Given the description of an element on the screen output the (x, y) to click on. 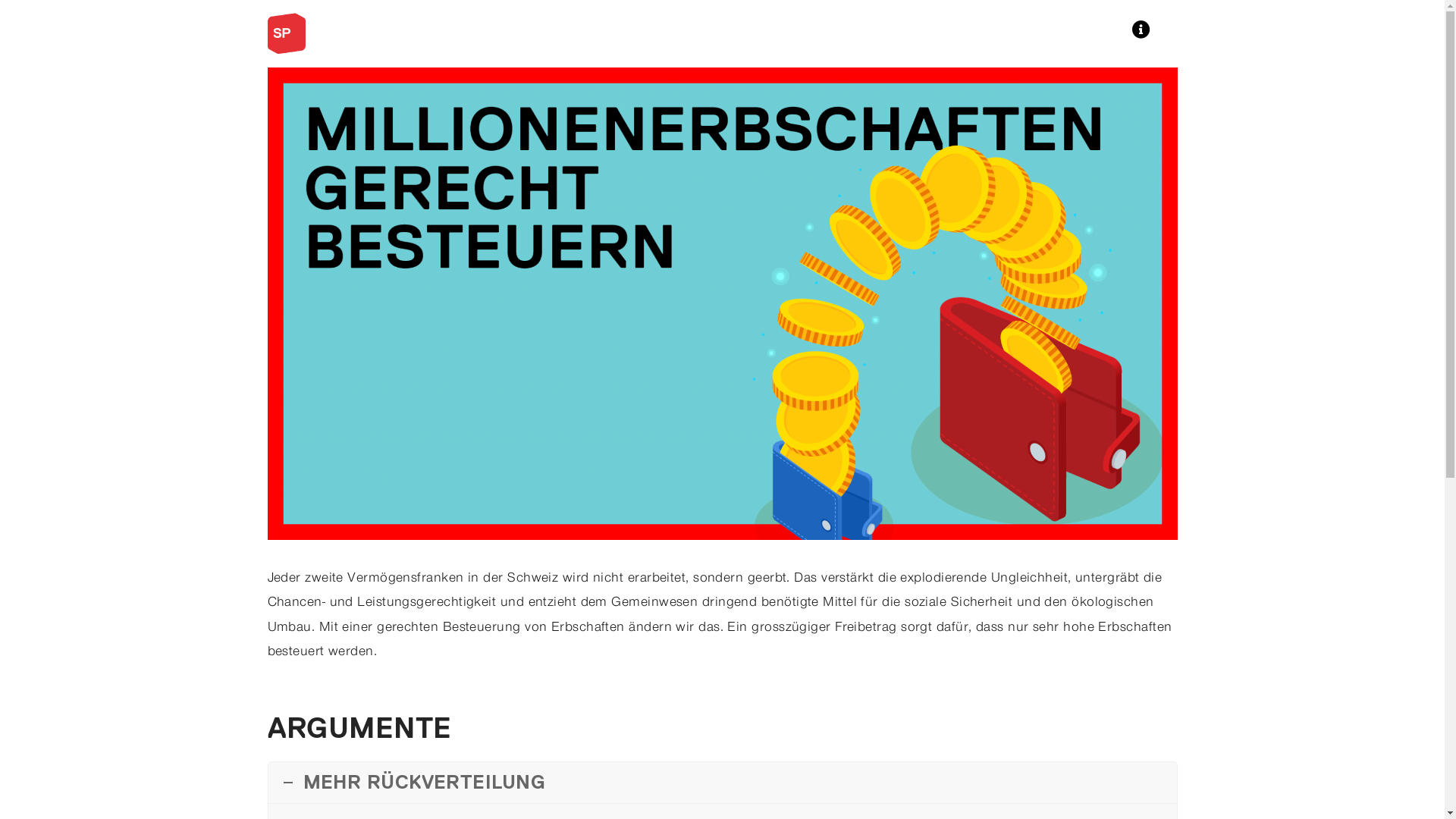
Visual_SP_BL_quer_erbschaften Element type: hover (721, 303)
